Given the description of an element on the screen output the (x, y) to click on. 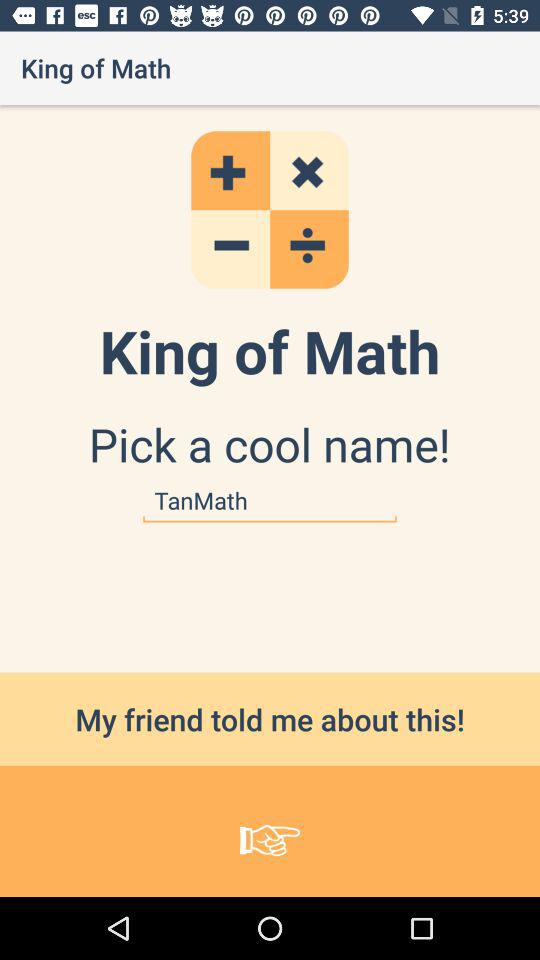
choose the tanmath (269, 500)
